Given the description of an element on the screen output the (x, y) to click on. 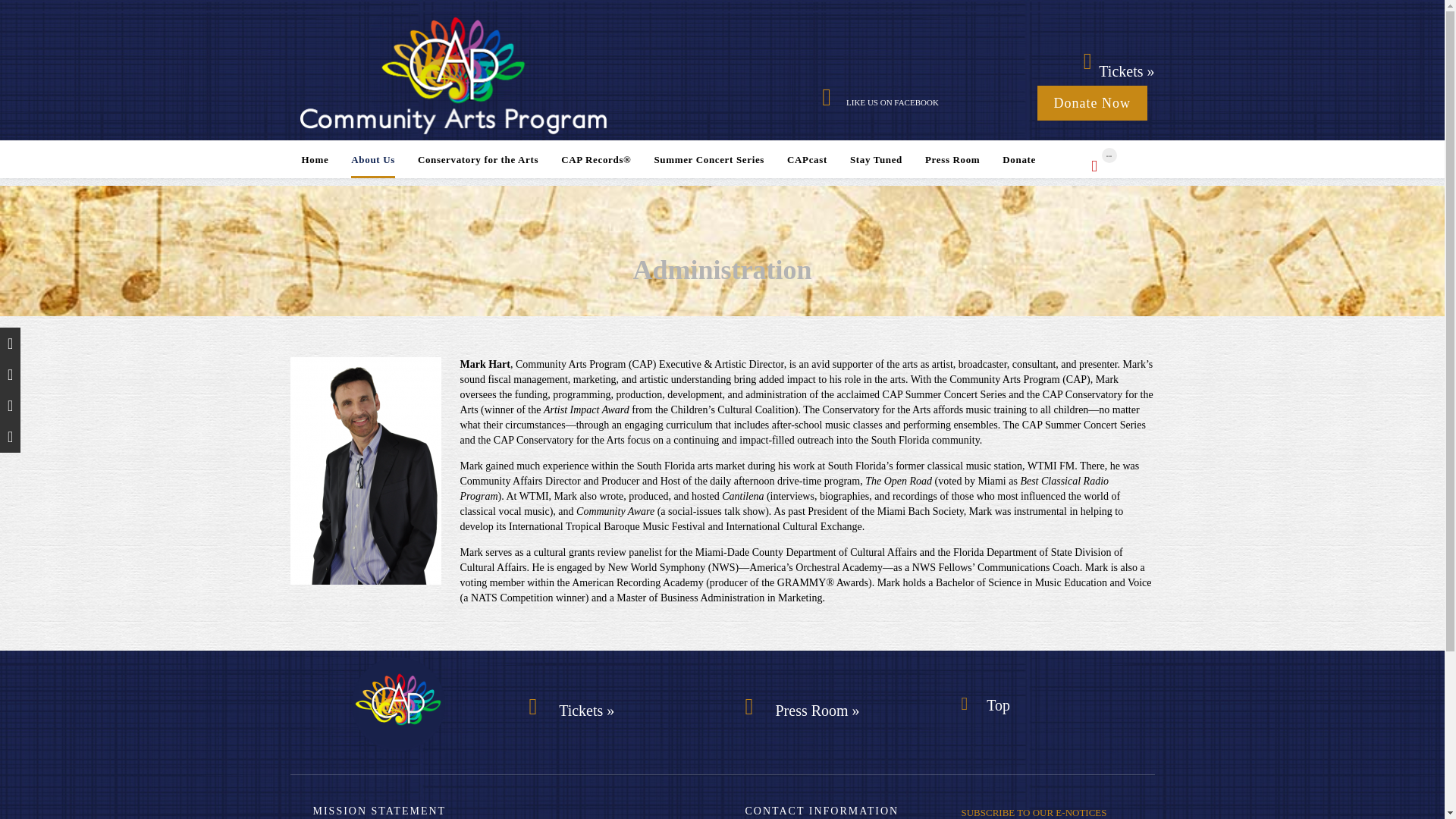
Donate Now (1091, 102)
About Us (372, 161)
